Given the description of an element on the screen output the (x, y) to click on. 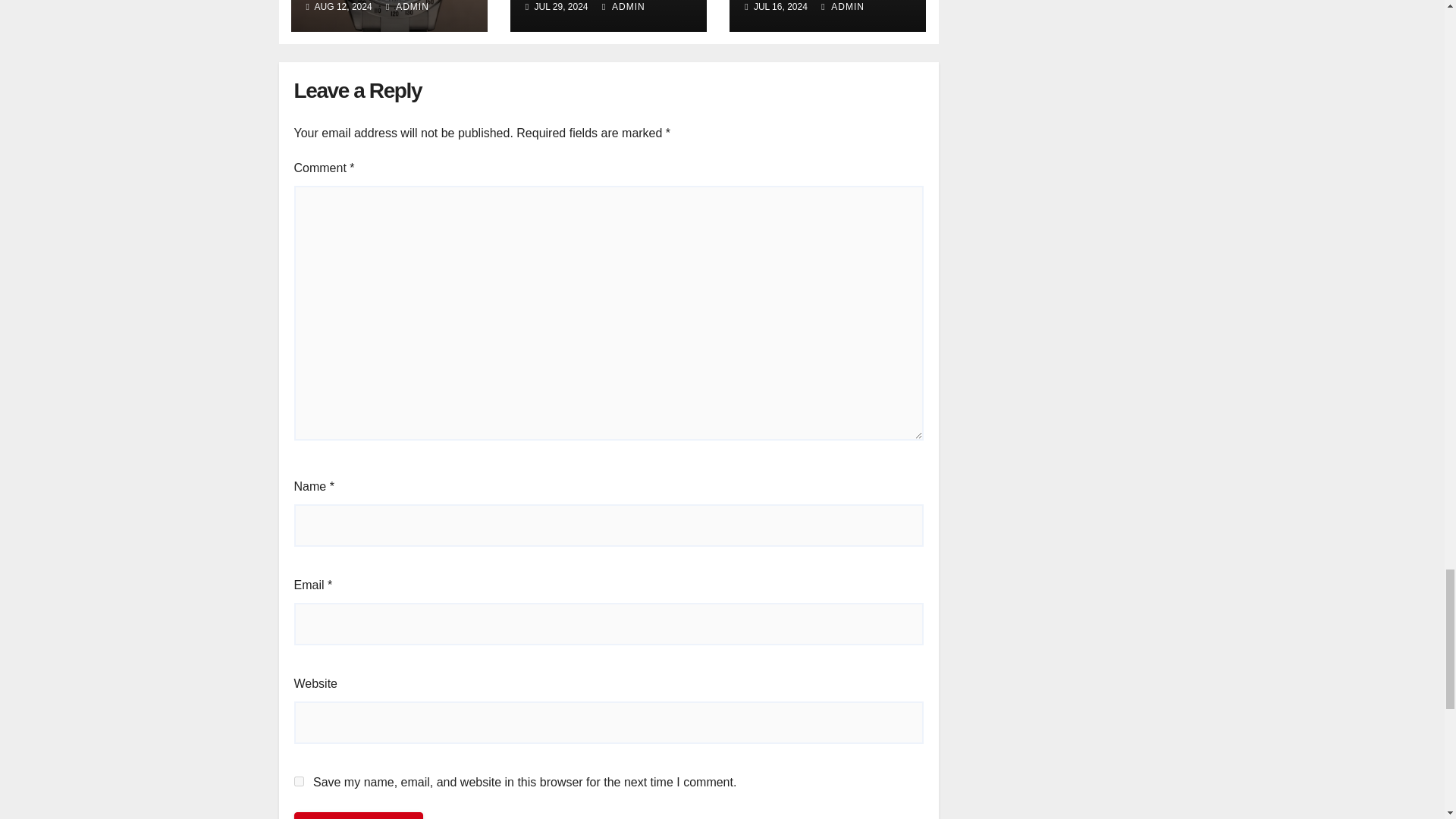
Post Comment (358, 815)
yes (299, 781)
